Given the description of an element on the screen output the (x, y) to click on. 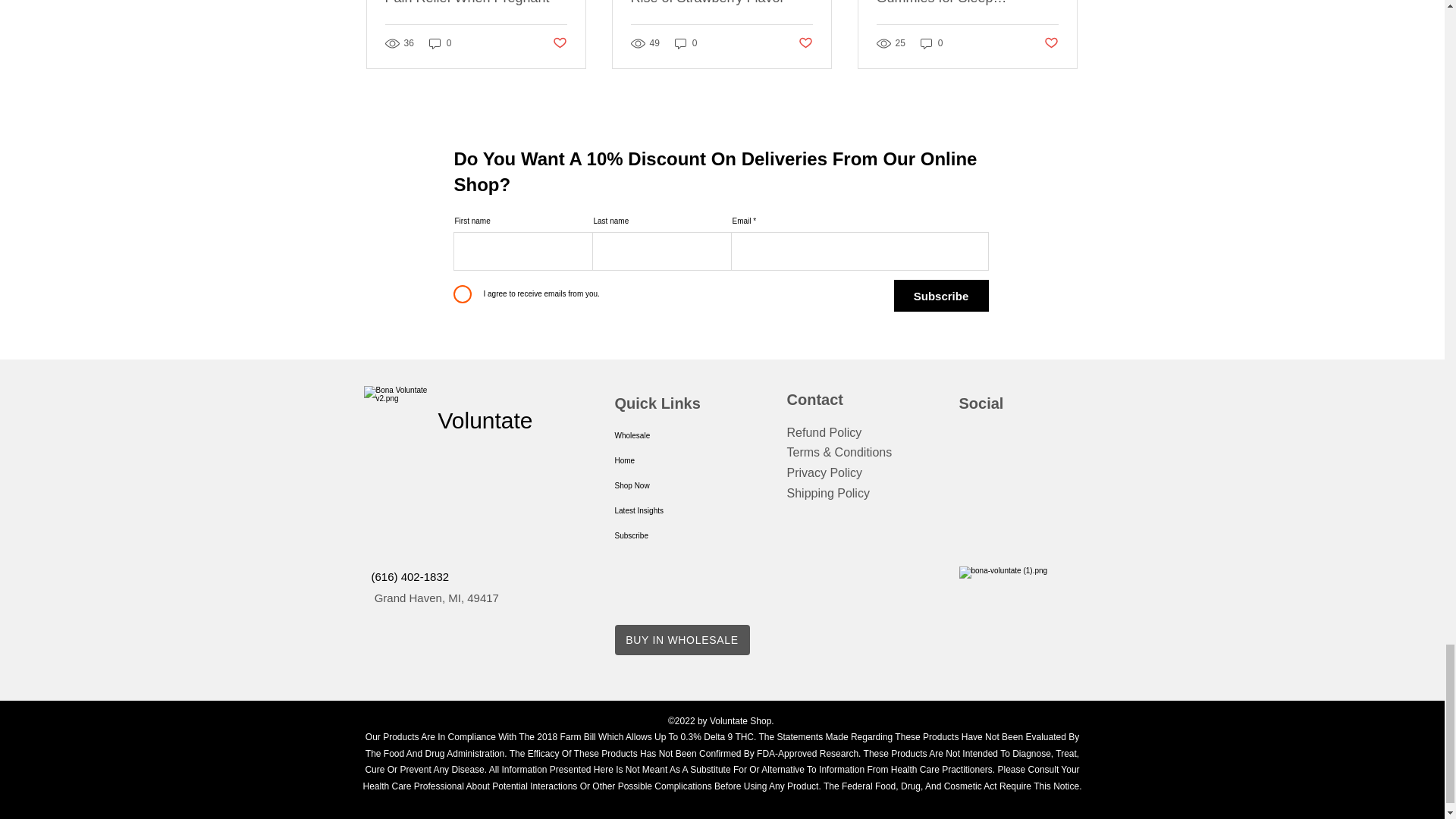
Shop Now (674, 485)
0 (931, 43)
Subscribe (940, 296)
Wholesale (674, 435)
Voluntate (485, 420)
Post not marked as liked (558, 43)
Home (674, 460)
Refund Policy (824, 431)
0 (685, 43)
Subscribe (674, 535)
Post not marked as liked (804, 43)
What To Know About Safe Pain Relief When Pregnant (476, 2)
Latest Insights (674, 510)
A Gummy Revolution: The Rise of Strawberry Flavor (721, 2)
Post not marked as liked (1050, 43)
